Given the description of an element on the screen output the (x, y) to click on. 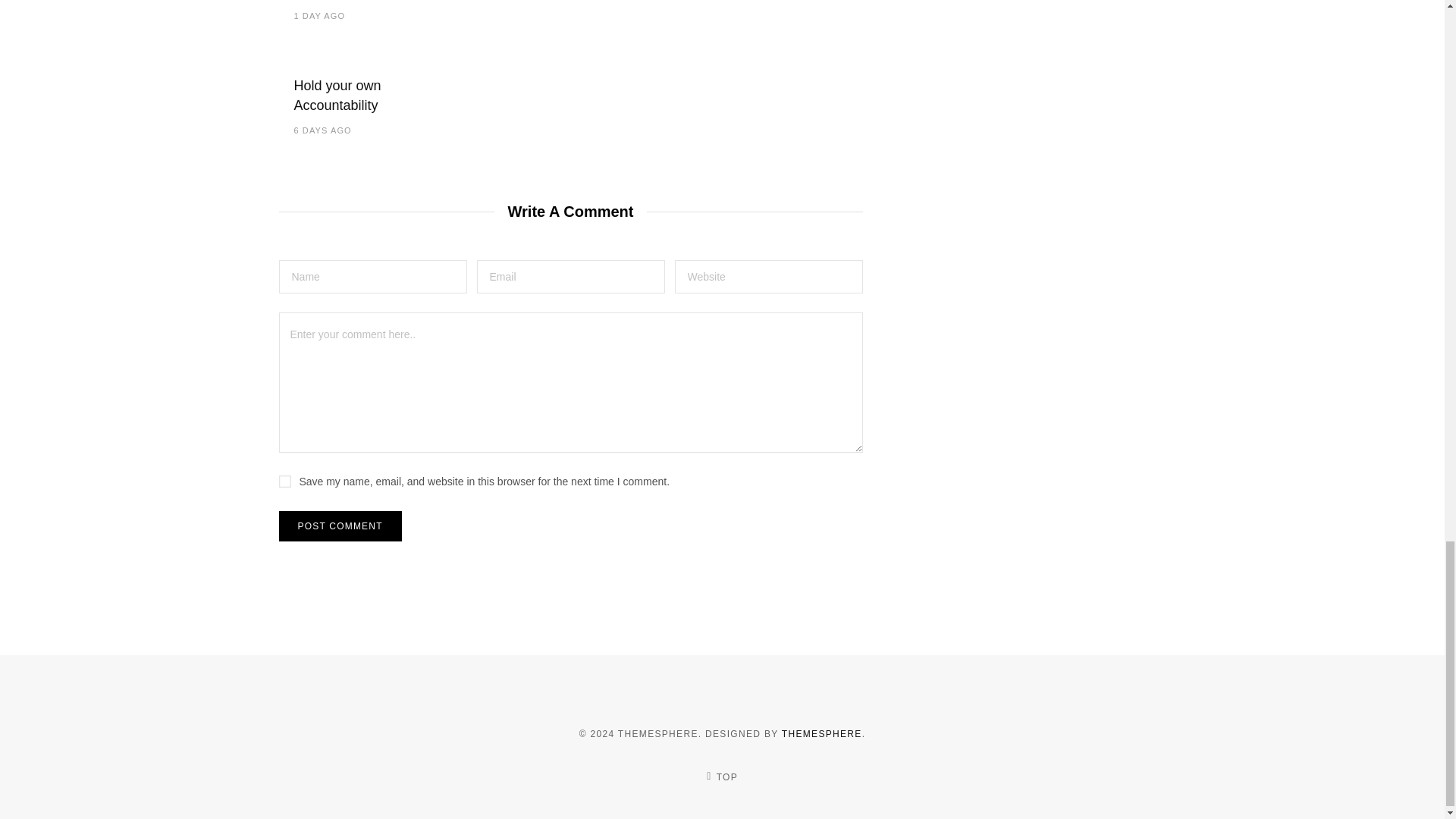
yes (285, 481)
Post Comment (340, 526)
